Given the description of an element on the screen output the (x, y) to click on. 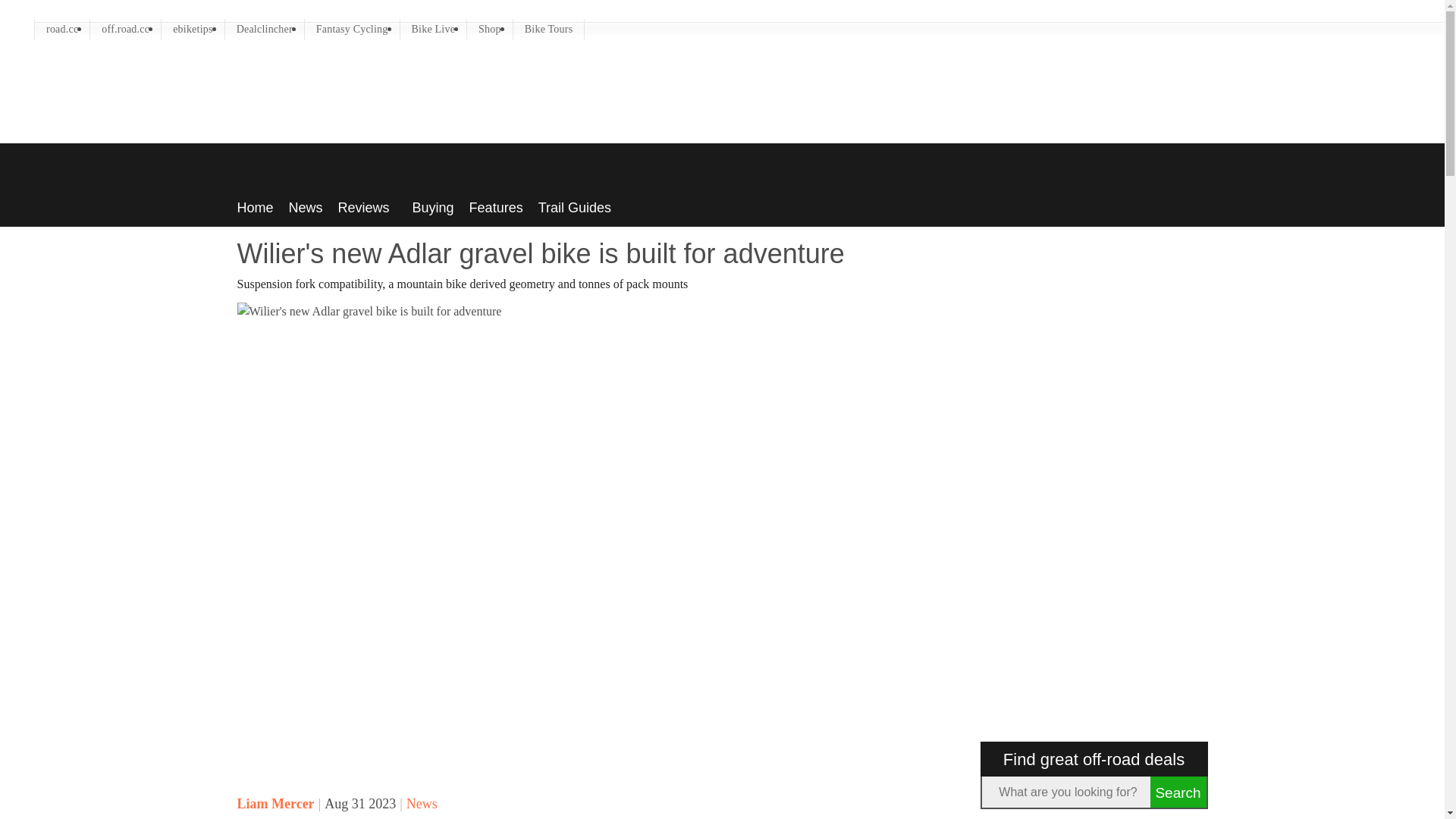
road.cc (61, 28)
ebiketips (192, 28)
News (305, 203)
Bike Live (433, 28)
Search (1177, 791)
off.road.cc (125, 28)
Fantasy Cycling (351, 28)
Home (254, 203)
Dealclincher (264, 28)
Reviews (367, 203)
